Given the description of an element on the screen output the (x, y) to click on. 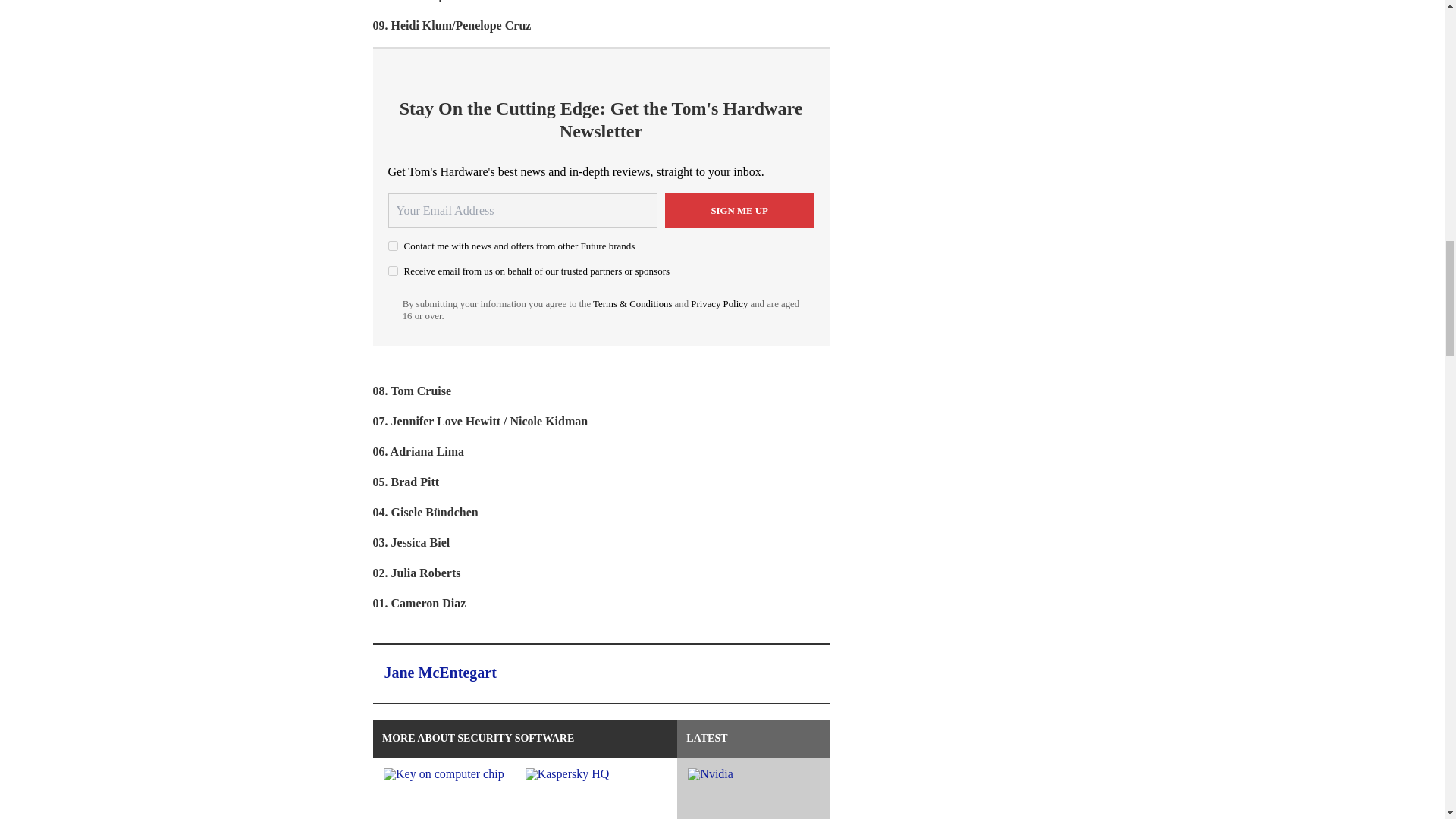
Sign me up (739, 210)
on (392, 271)
on (392, 245)
